Given the description of an element on the screen output the (x, y) to click on. 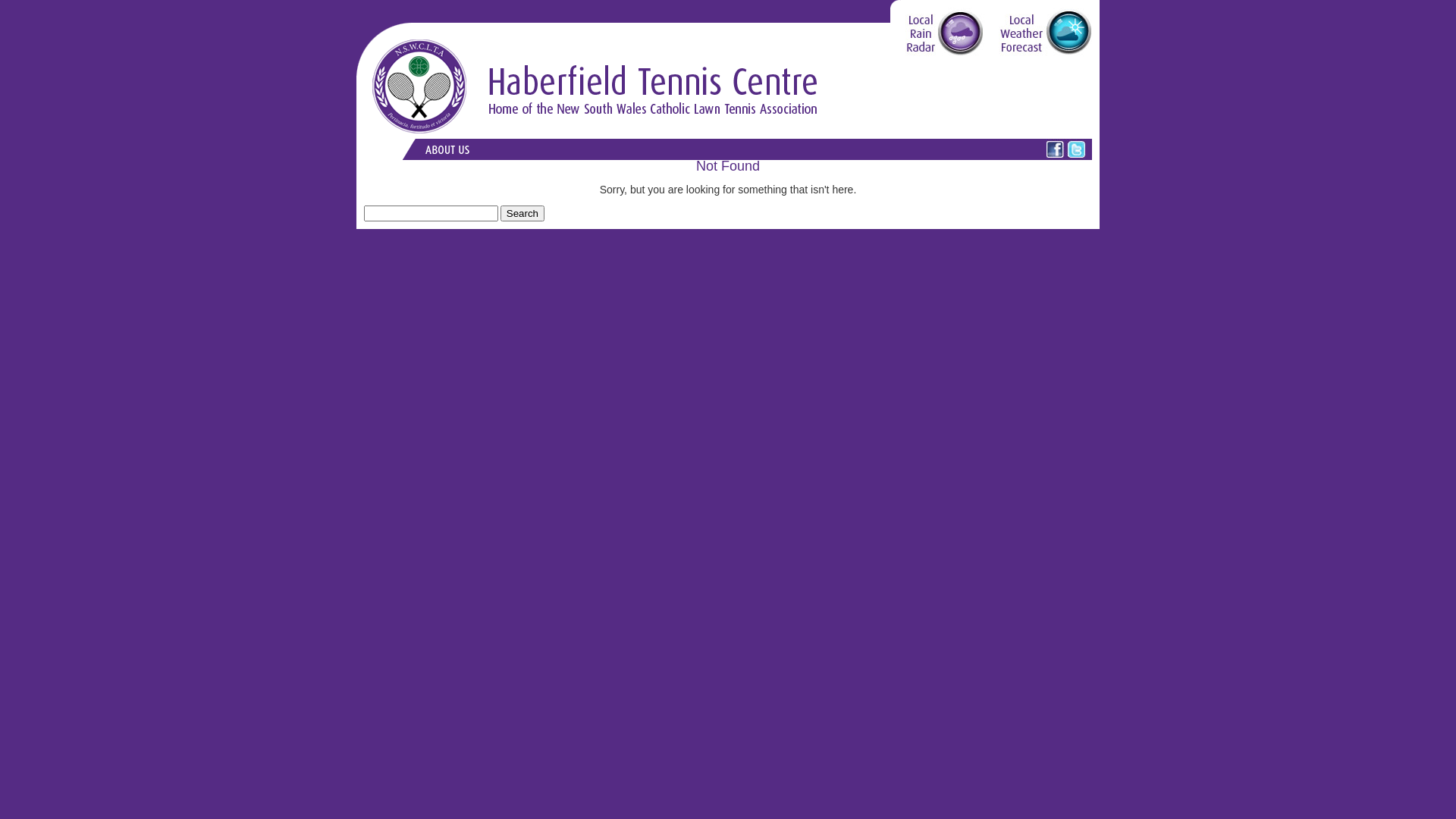
About Us Element type: text (446, 149)
Search Element type: text (522, 213)
